Given the description of an element on the screen output the (x, y) to click on. 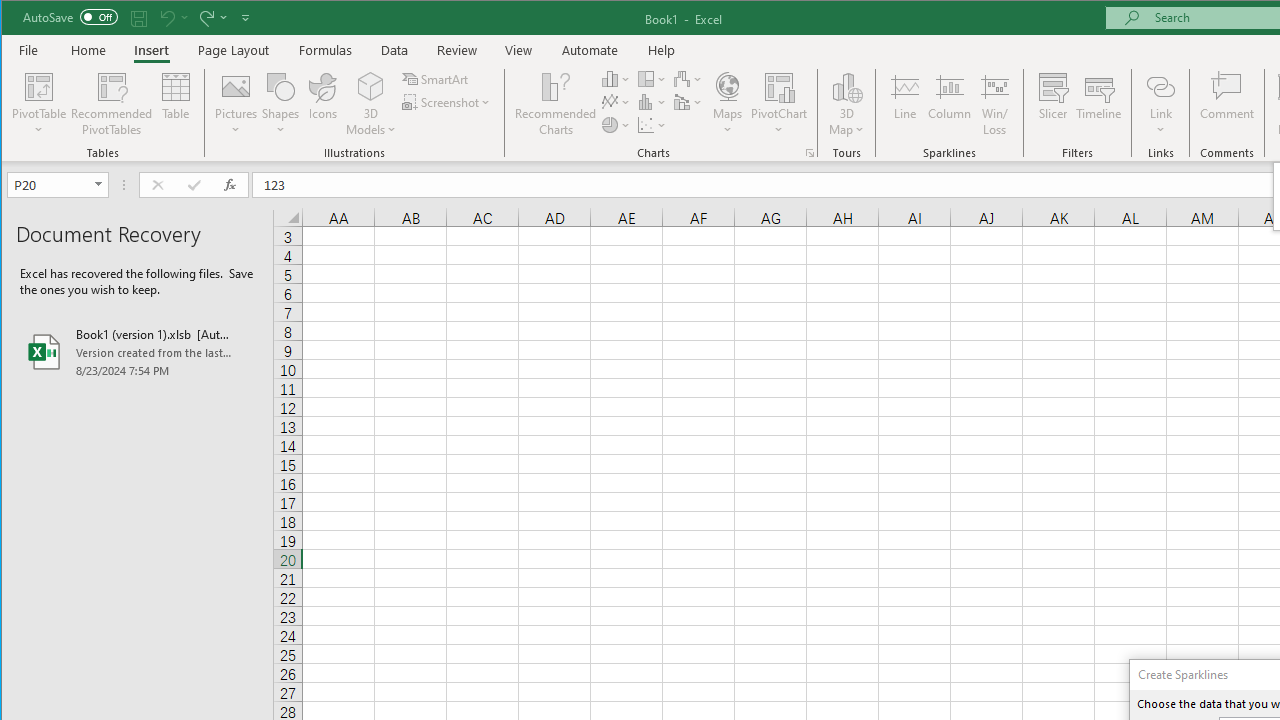
Timeline (1098, 104)
Insert Column or Bar Chart (616, 78)
Automate (589, 50)
Icons (323, 104)
Comment (1227, 104)
PivotChart (779, 104)
SmartArt... (436, 78)
PivotTable (39, 104)
Table (175, 104)
